Given the description of an element on the screen output the (x, y) to click on. 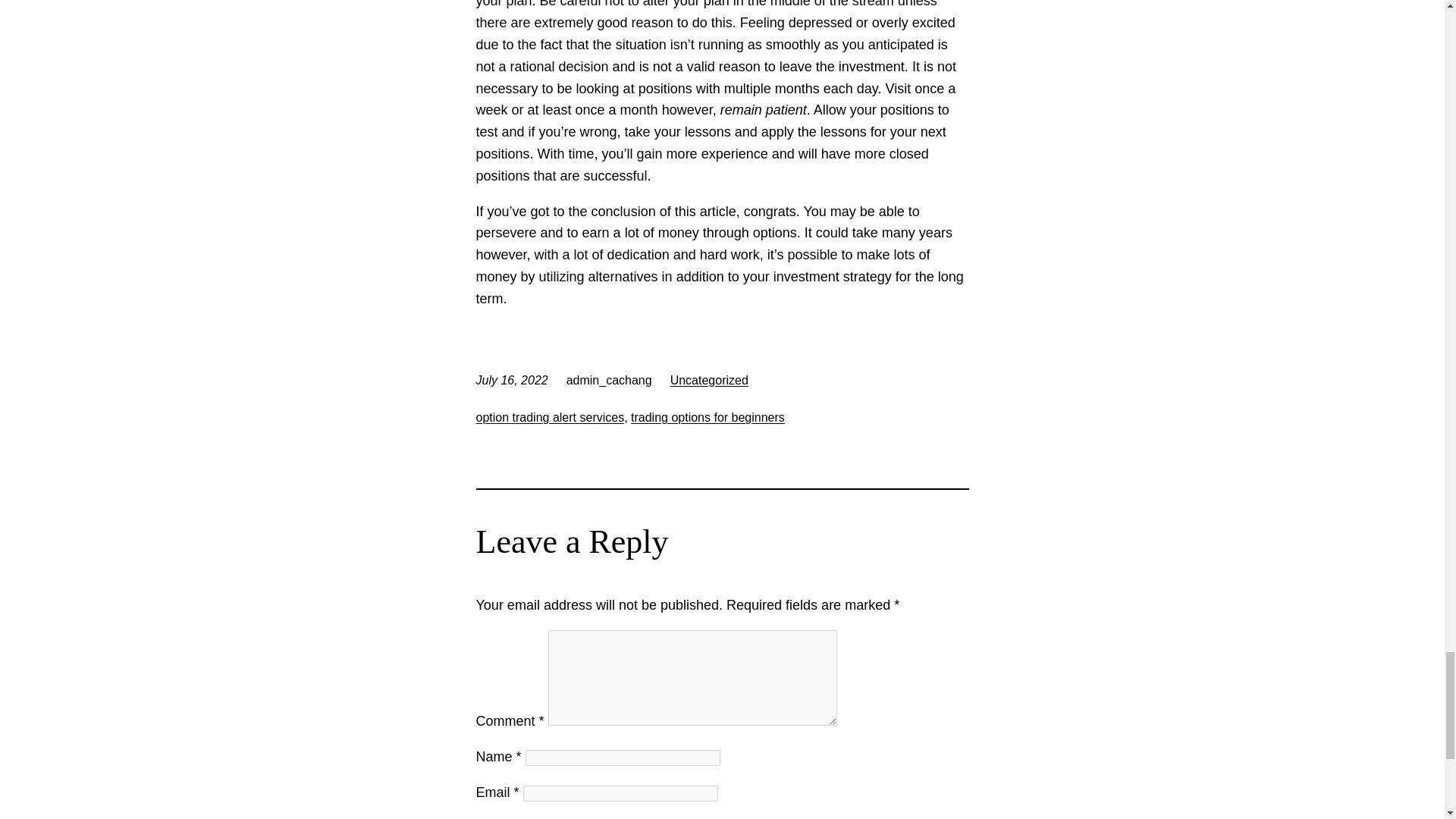
trading options for beginners (707, 417)
Uncategorized (708, 379)
option trading alert services (550, 417)
